Given the description of an element on the screen output the (x, y) to click on. 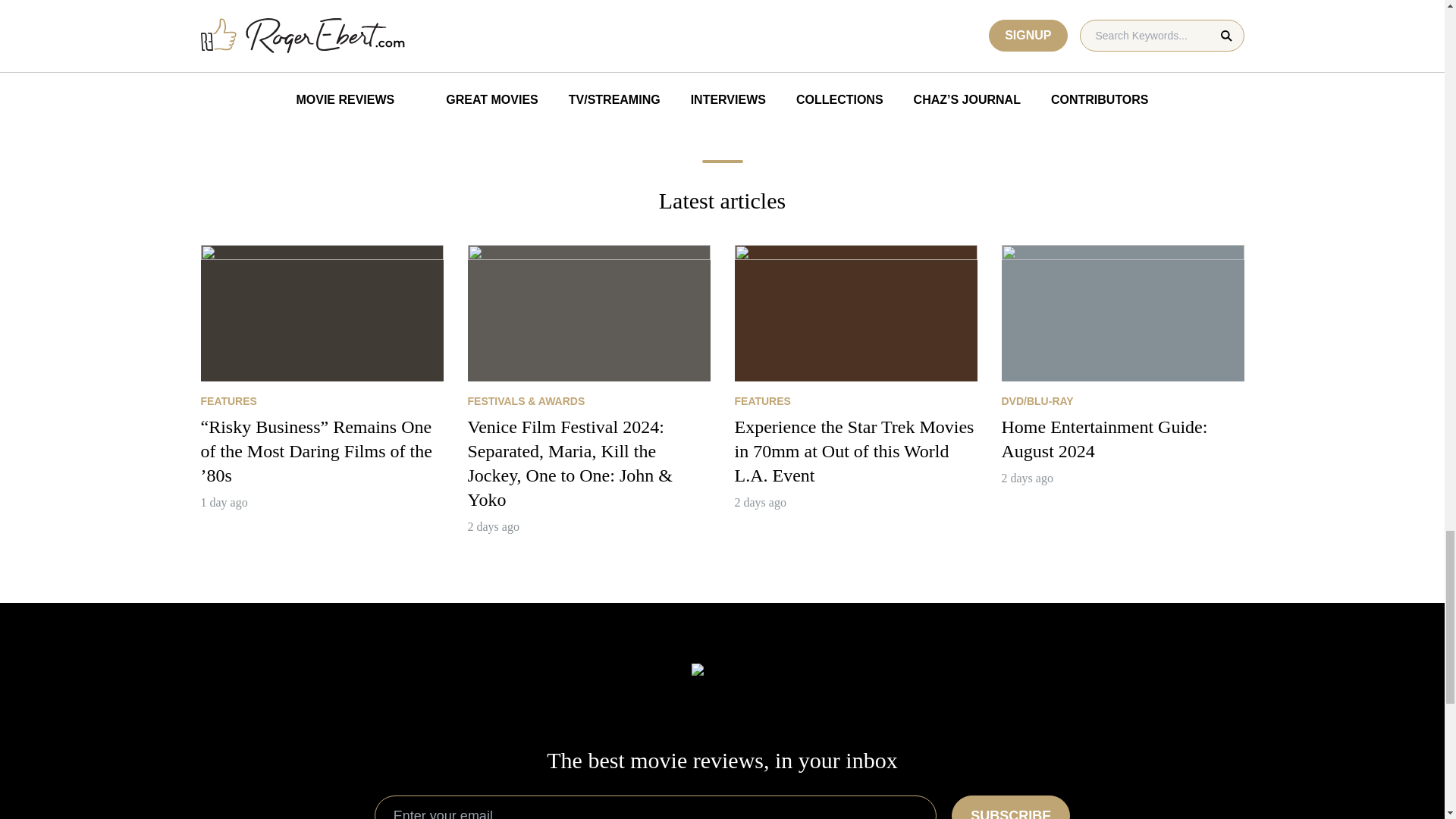
Subscribe (1011, 807)
Subscribe (1011, 807)
